Given the description of an element on the screen output the (x, y) to click on. 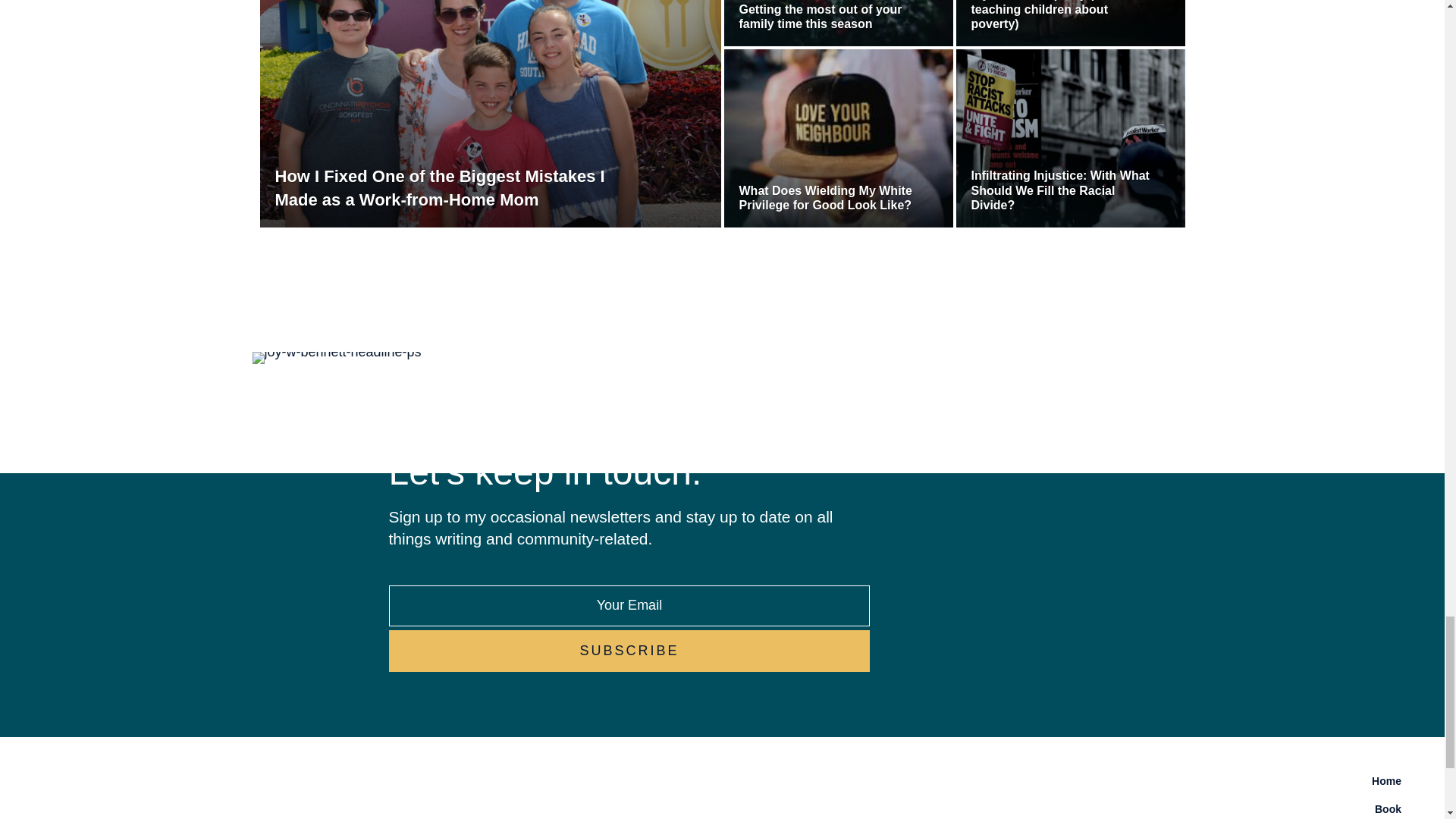
Book (1071, 807)
Getting the most out of your family time this season (829, 16)
What Does Wielding My White Privilege for Good Look Like? (829, 197)
What Does Wielding My White Privilege for Good Look Like? (829, 197)
Getting the most out of your family time this season (829, 16)
Subscribe (628, 650)
Home (1071, 780)
